Given the description of an element on the screen output the (x, y) to click on. 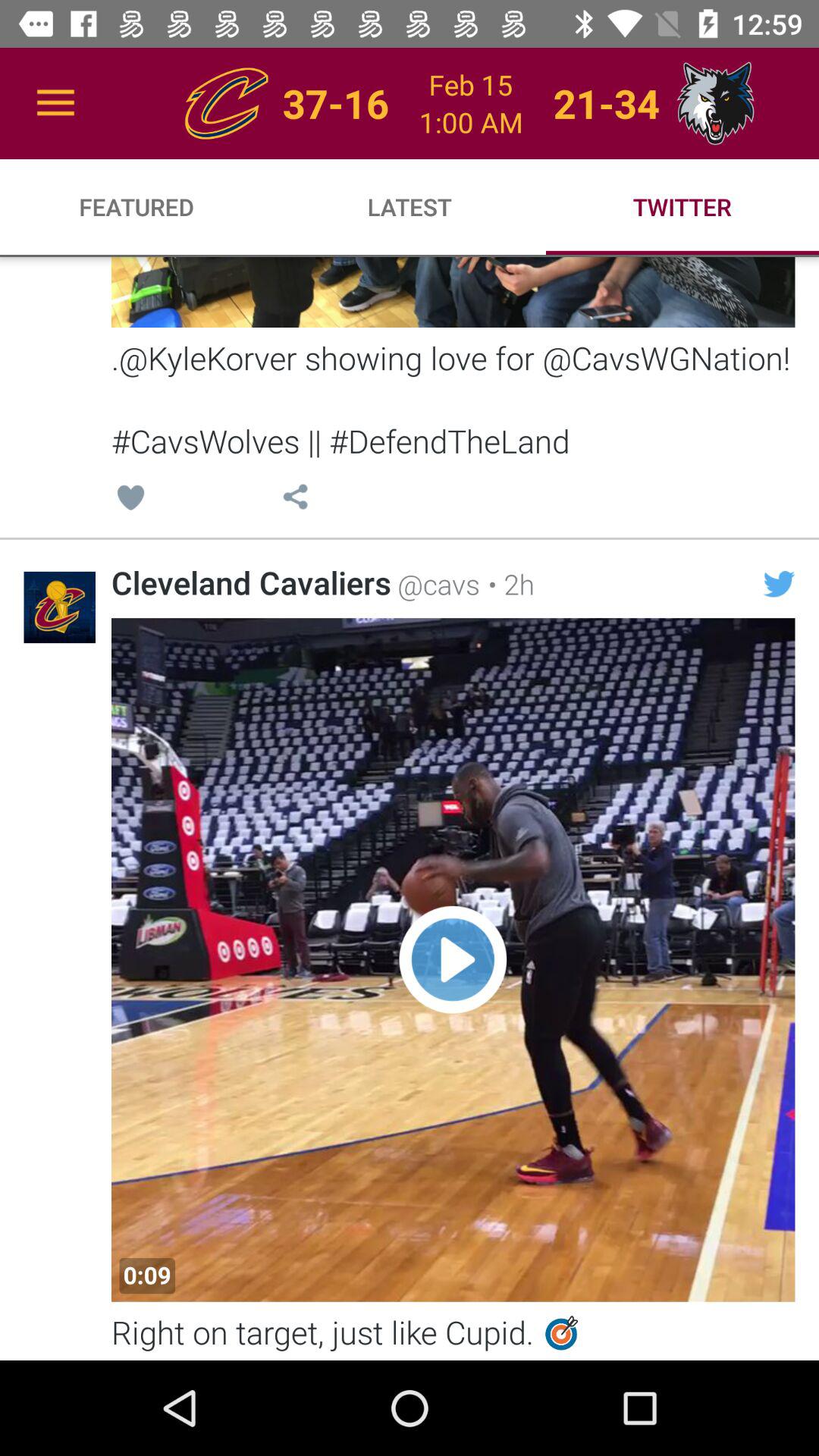
flip to the right on target (453, 1335)
